Given the description of an element on the screen output the (x, y) to click on. 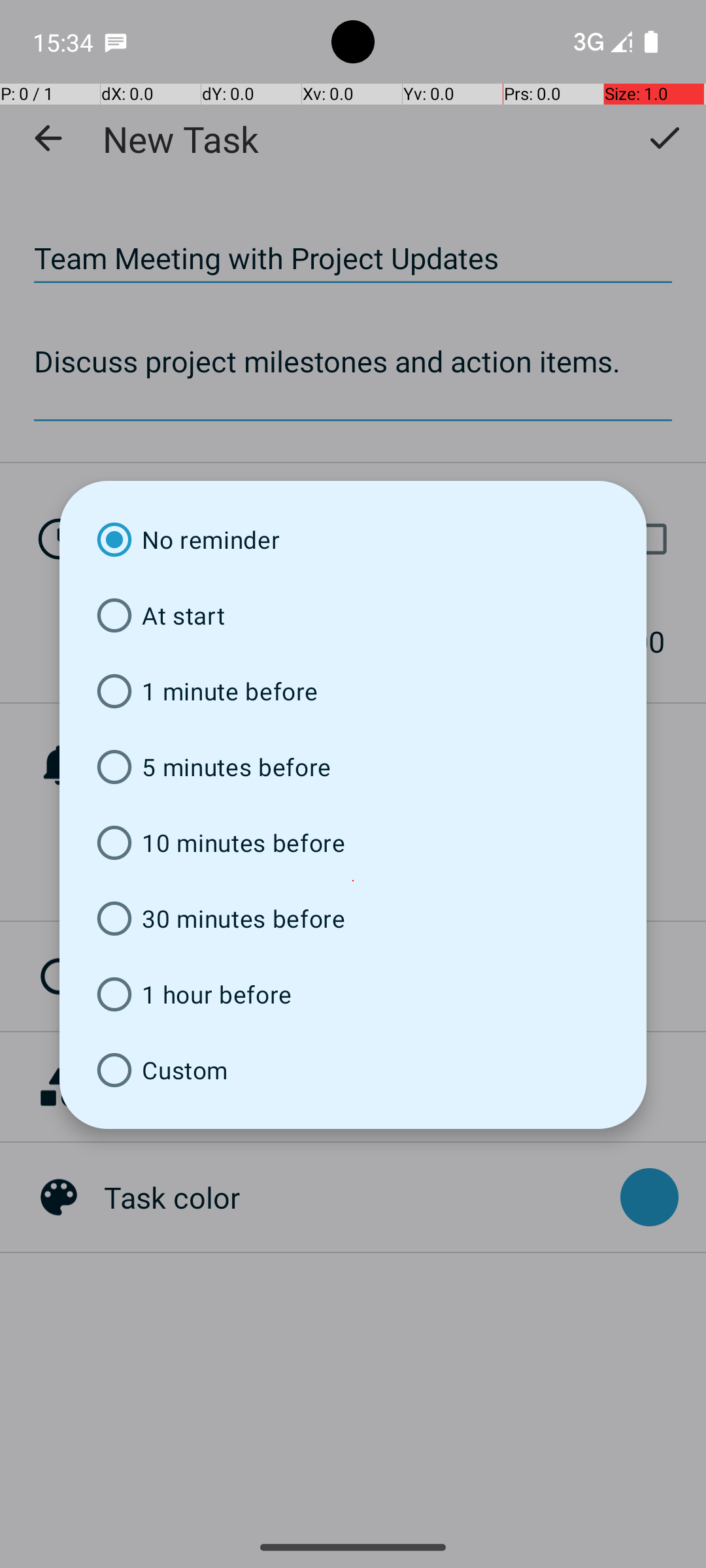
No reminder Element type: android.widget.RadioButton (352, 539)
At start Element type: android.widget.RadioButton (352, 615)
1 minute before Element type: android.widget.RadioButton (352, 691)
5 minutes before Element type: android.widget.RadioButton (352, 766)
10 minutes before Element type: android.widget.RadioButton (352, 842)
30 minutes before Element type: android.widget.RadioButton (352, 918)
1 hour before Element type: android.widget.RadioButton (352, 994)
Custom Element type: android.widget.RadioButton (352, 1070)
